Given the description of an element on the screen output the (x, y) to click on. 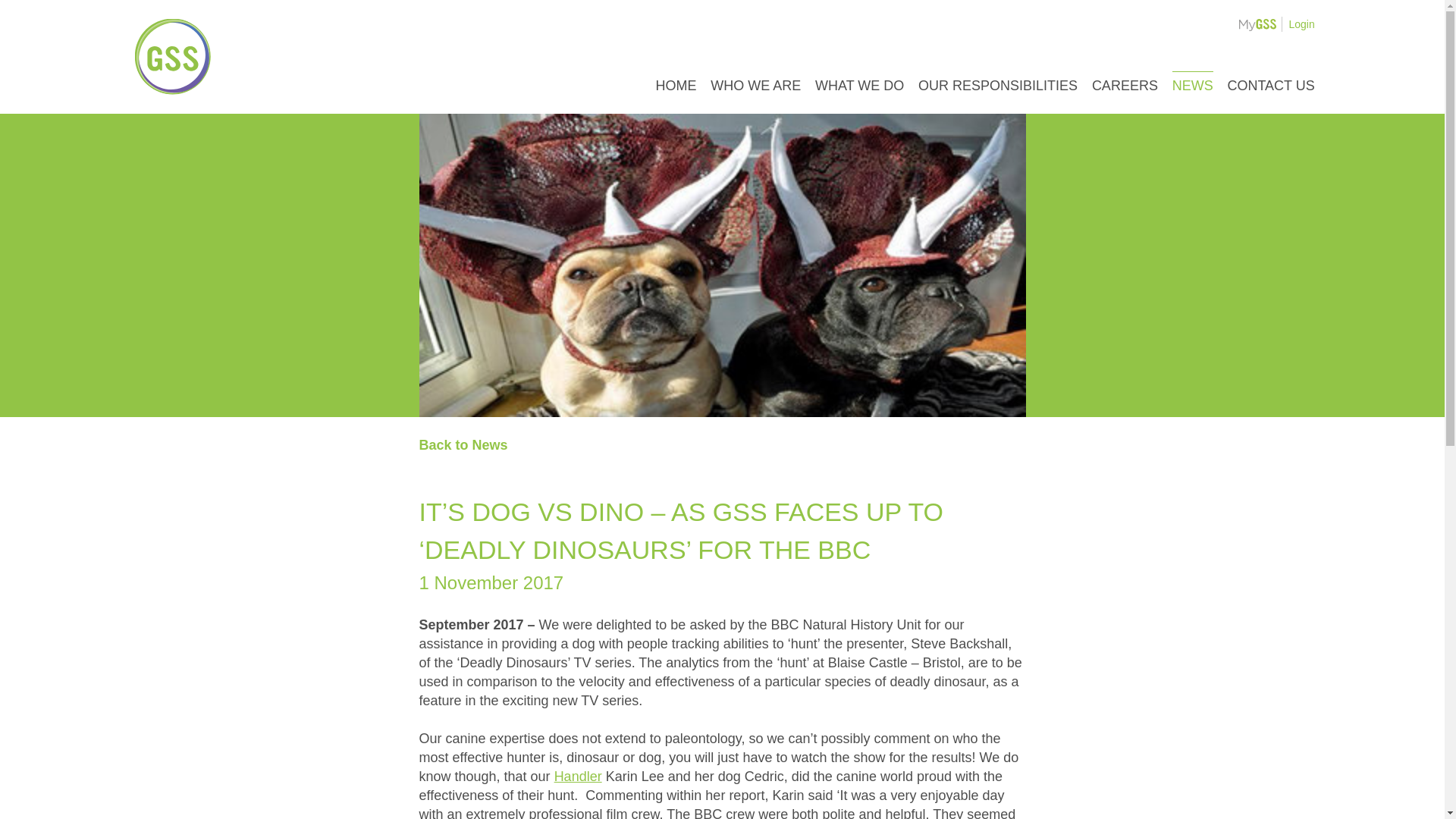
Back to News (462, 444)
Login (1301, 23)
Global Support Services (173, 56)
WHO WE ARE (755, 85)
CONTACT US (1270, 85)
CAREERS (1124, 85)
Handler (578, 776)
OUR RESPONSIBILITIES (997, 85)
WHAT WE DO (859, 85)
HOME (675, 85)
